Given the description of an element on the screen output the (x, y) to click on. 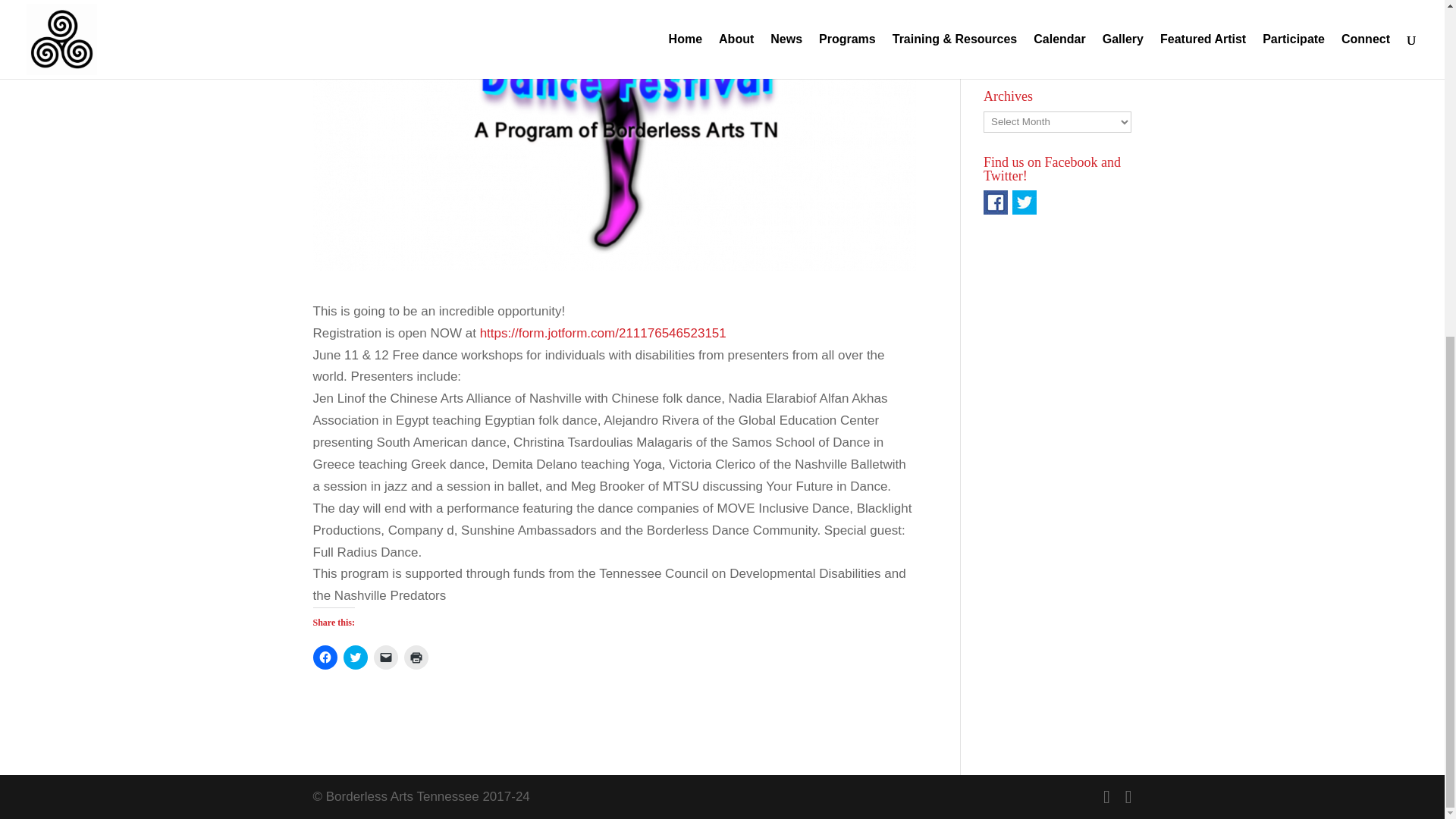
Click to print (415, 657)
Click to share on Twitter (354, 657)
Click to share on Facebook (324, 657)
A Proud Moment for the Young Soloist Program (1051, 22)
Facebook (995, 202)
Click to email a link to a friend (384, 657)
Twitter (1023, 202)
